Given the description of an element on the screen output the (x, y) to click on. 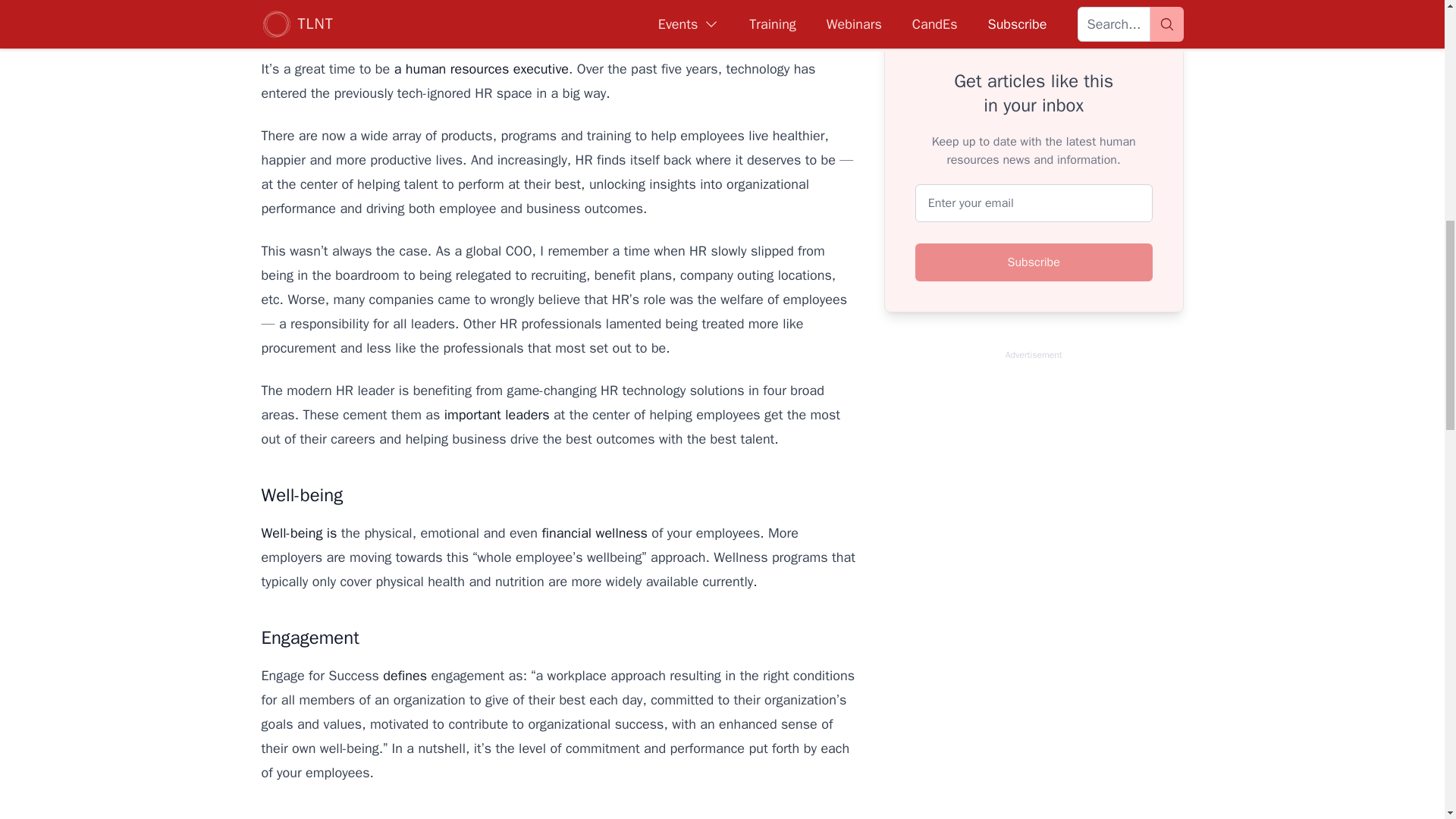
Well-being is (298, 532)
a human resources executive (481, 68)
financial wellness (593, 532)
defines (404, 675)
important leaders (497, 414)
